Given the description of an element on the screen output the (x, y) to click on. 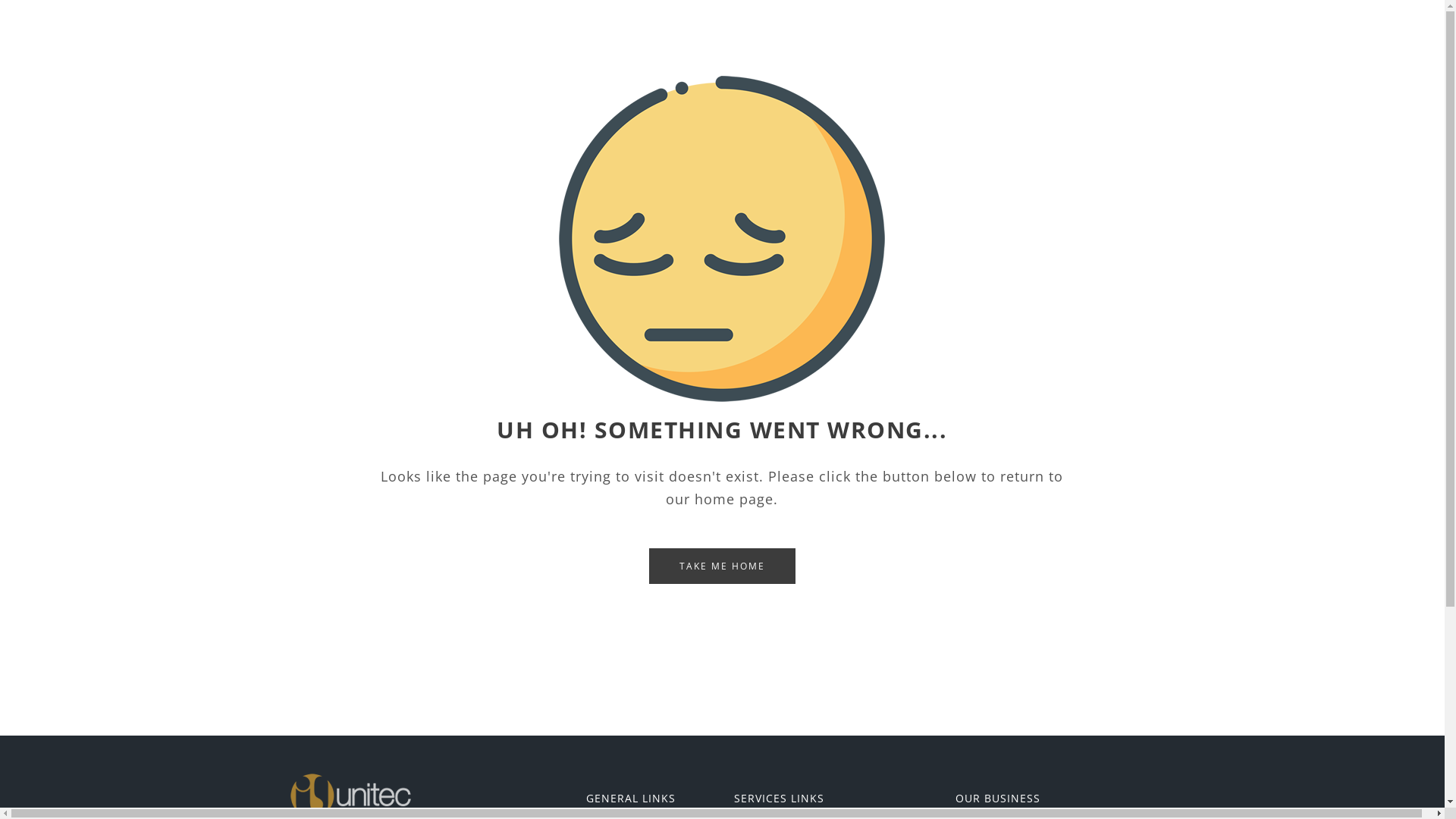
TAKE ME HOME Element type: text (722, 565)
